Given the description of an element on the screen output the (x, y) to click on. 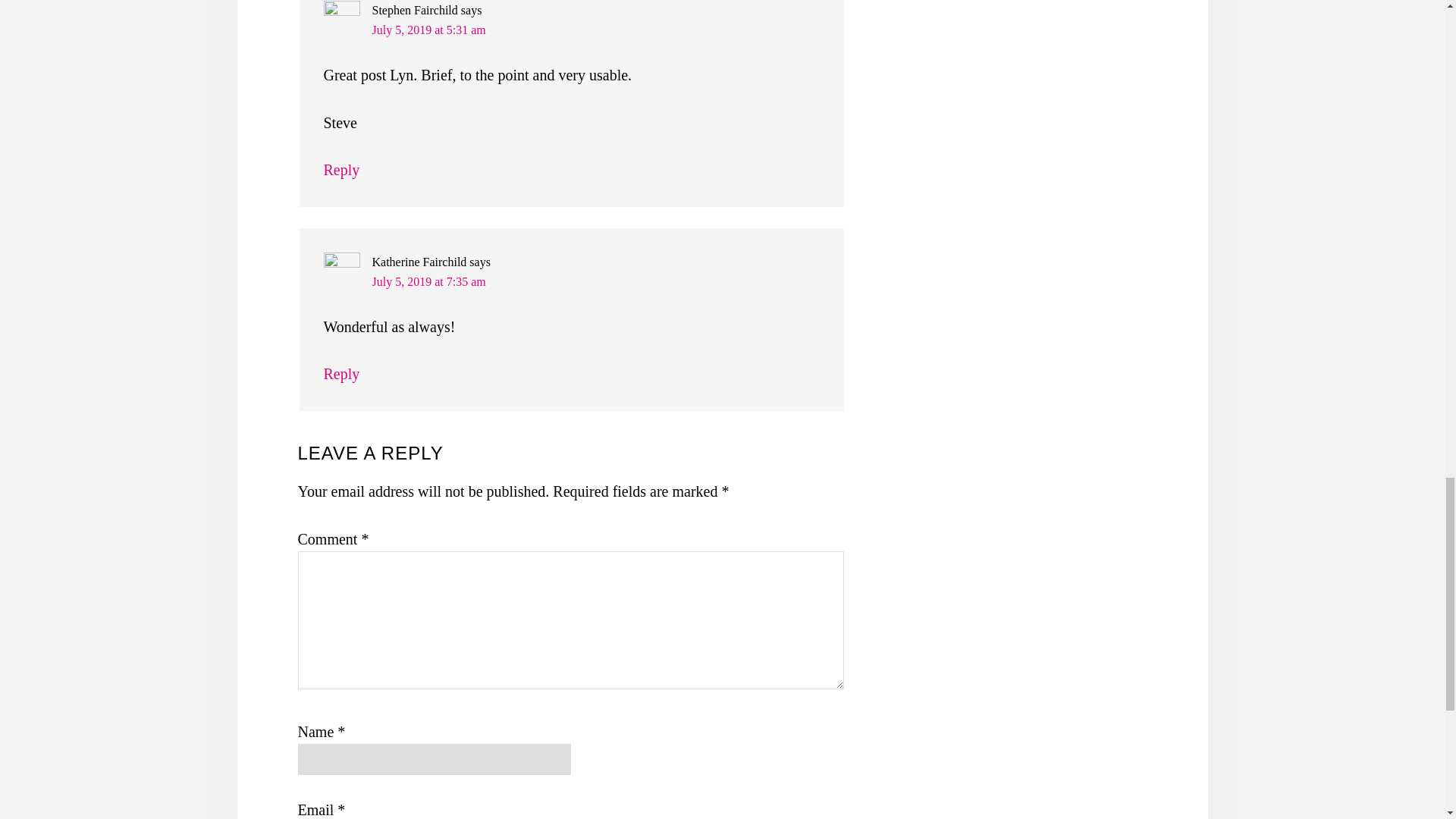
July 5, 2019 at 5:31 am (427, 29)
Reply (341, 169)
July 5, 2019 at 7:35 am (427, 281)
Reply (341, 373)
